Given the description of an element on the screen output the (x, y) to click on. 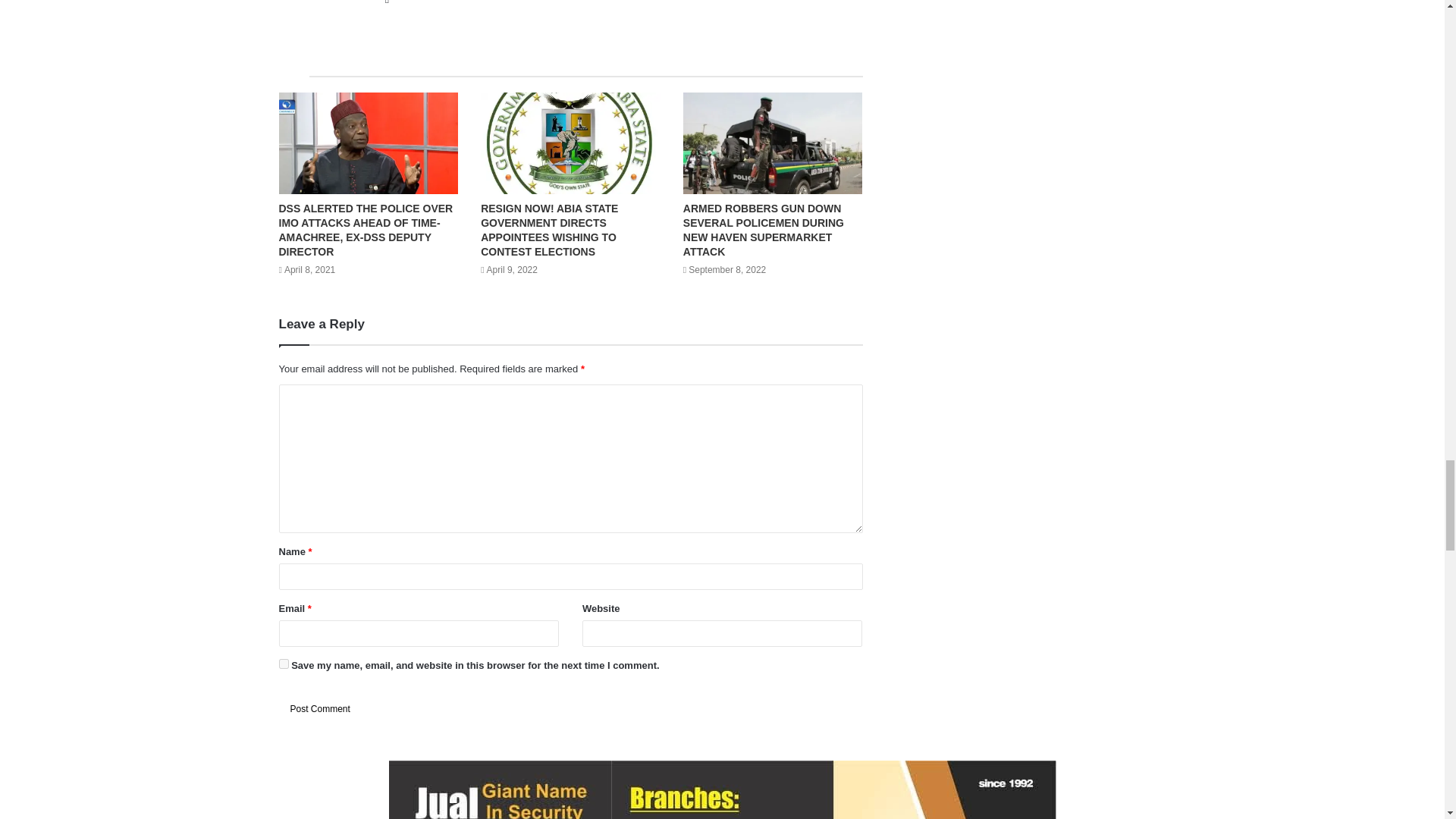
yes (283, 664)
Post Comment (320, 709)
